Given the description of an element on the screen output the (x, y) to click on. 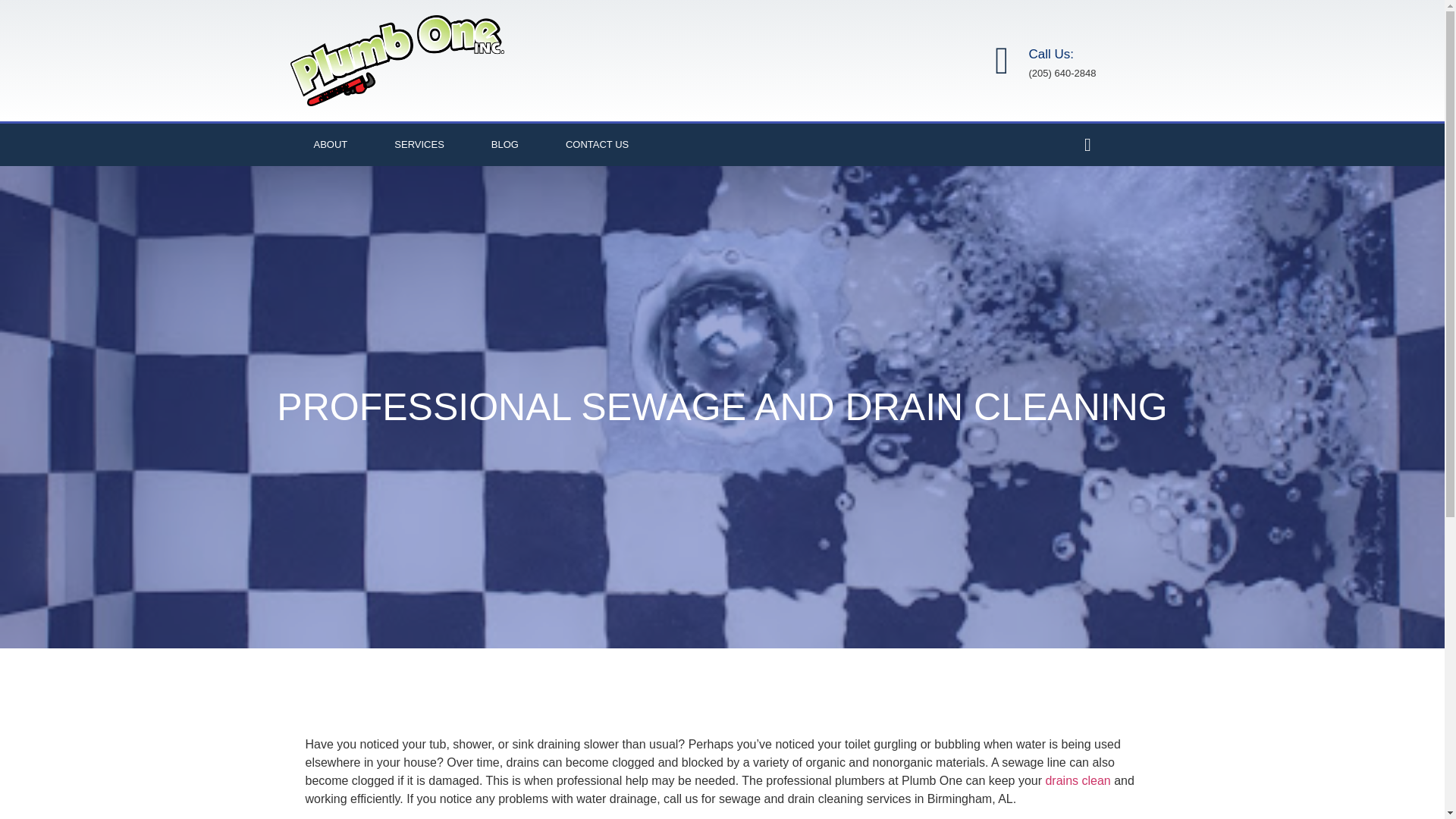
Call Us: (1050, 53)
SERVICES (419, 144)
CONTACT US (596, 144)
BLOG (504, 144)
ABOUT (330, 144)
drains clean (1077, 780)
